Given the description of an element on the screen output the (x, y) to click on. 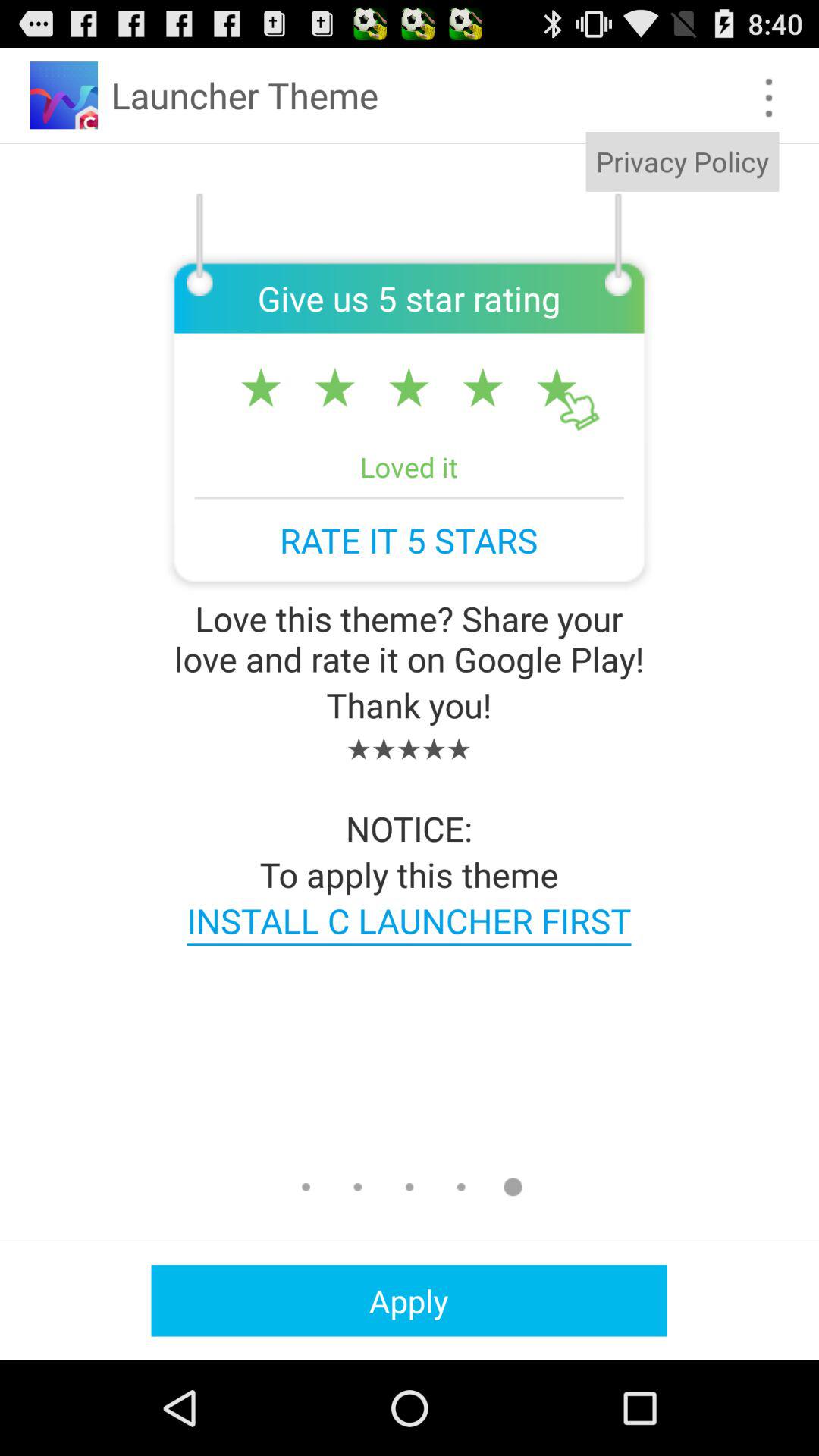
scroll until privacy policy item (682, 161)
